Given the description of an element on the screen output the (x, y) to click on. 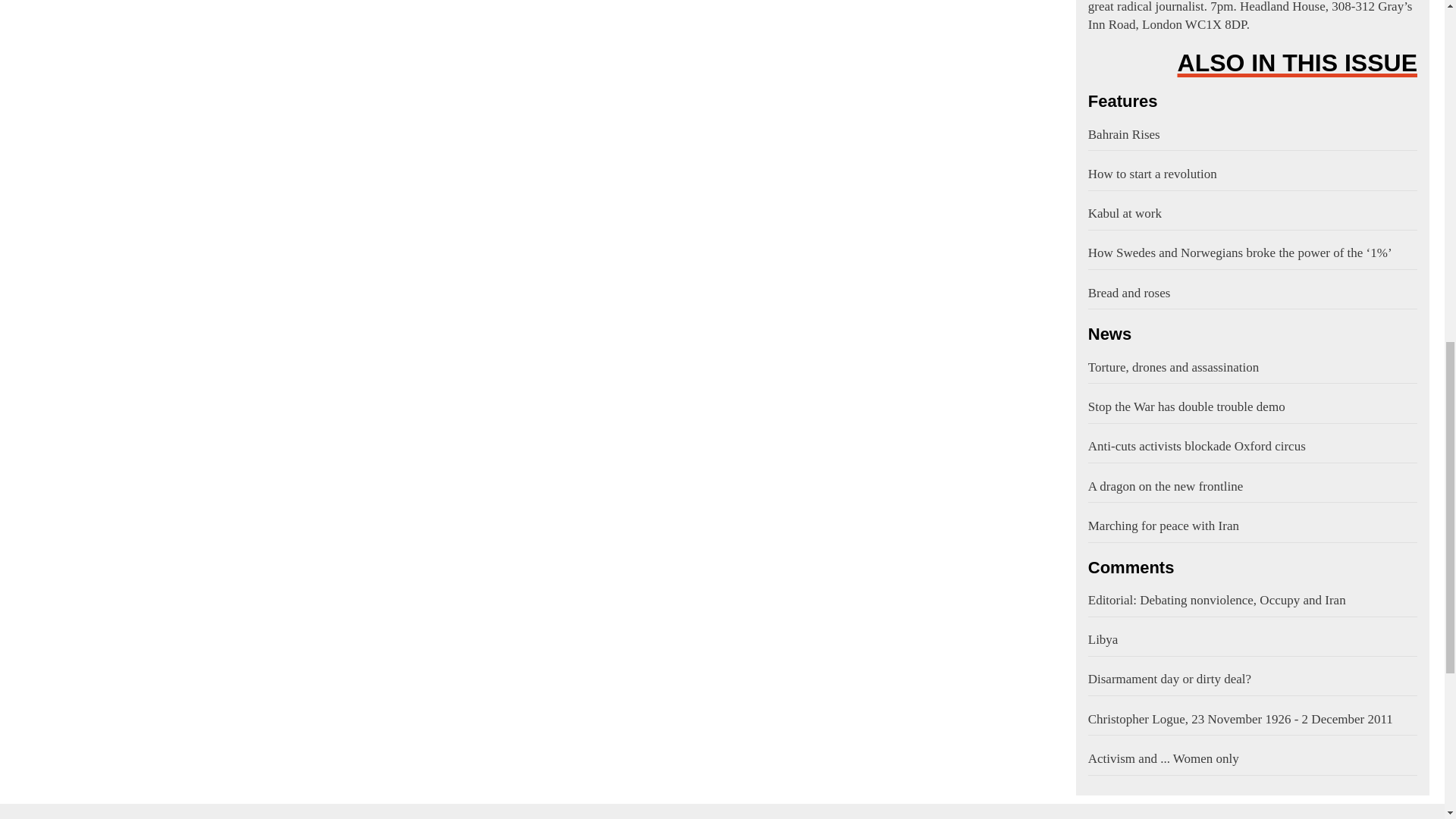
Bread and roses (1251, 293)
Features (1251, 101)
How to start a revolution (1251, 174)
Kabul at work (1251, 214)
Bahrain Rises (1251, 134)
